Given the description of an element on the screen output the (x, y) to click on. 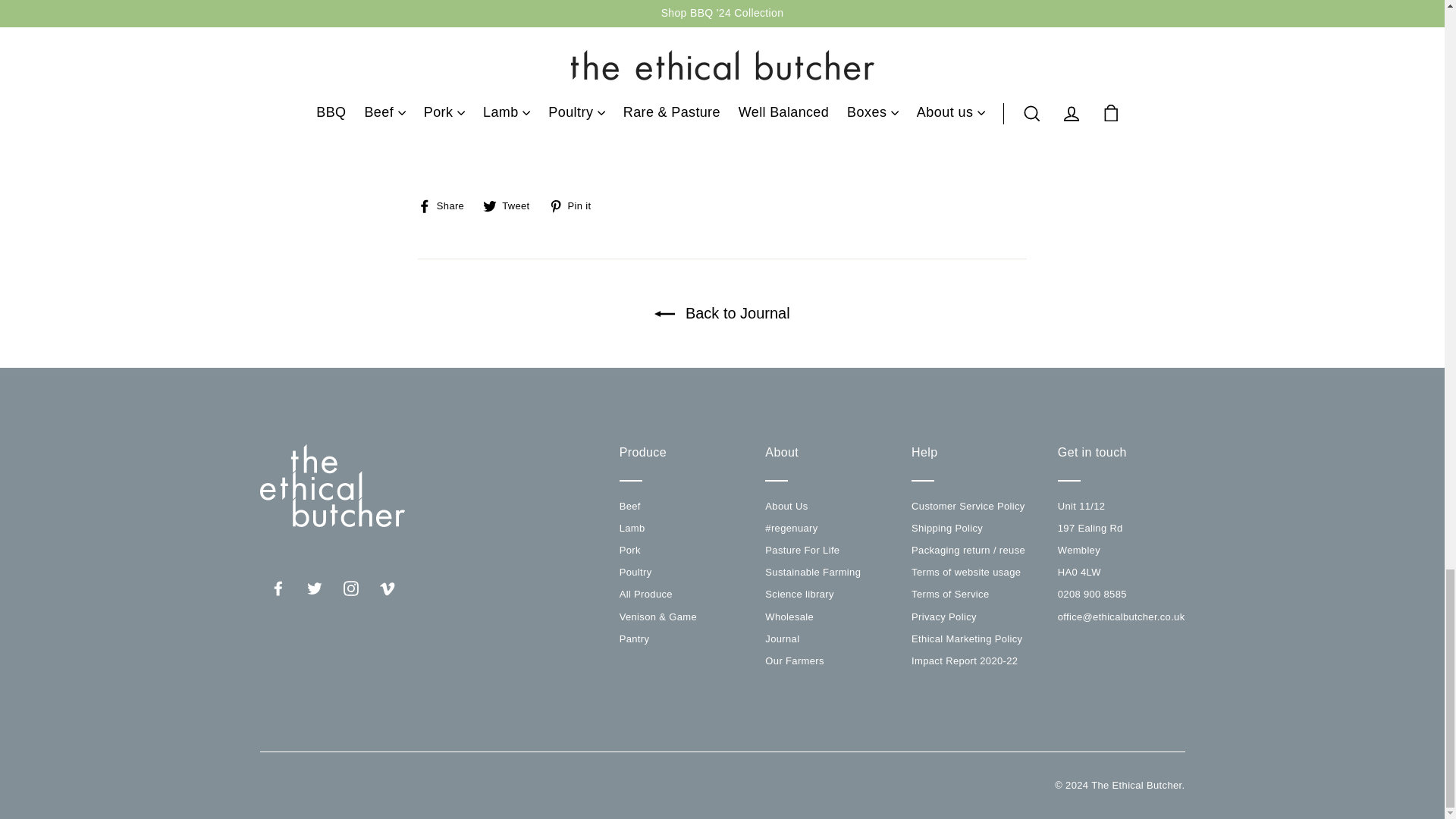
Pin on Pinterest (575, 205)
tel:0208 900 8585 (1092, 593)
Tweet on Twitter (511, 205)
Share on Facebook (446, 205)
